Given the description of an element on the screen output the (x, y) to click on. 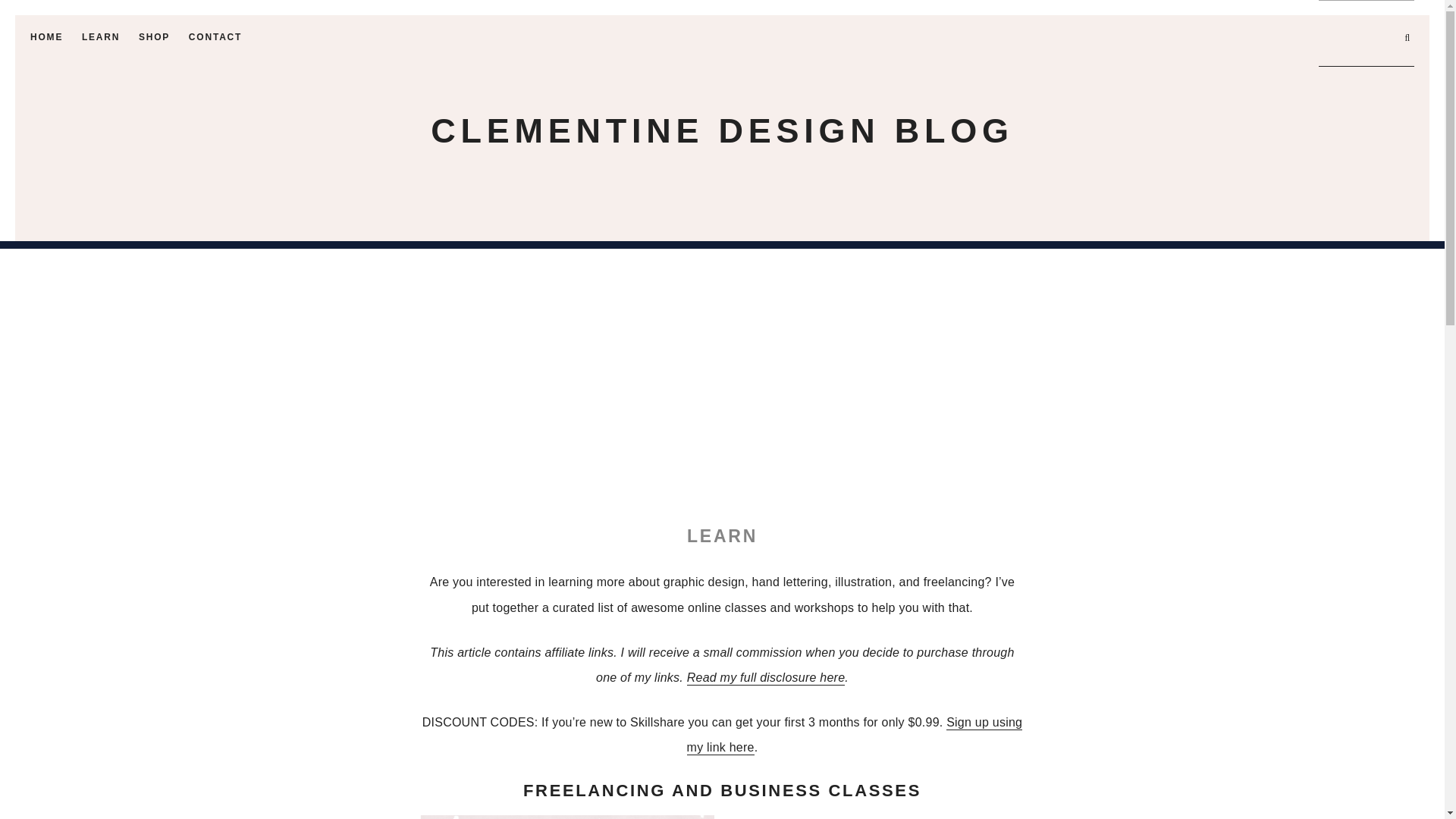
SHOP (154, 40)
HOME (46, 40)
Read my full disclosure here (766, 677)
Sign up using my link here (855, 735)
CONTACT (214, 40)
CLEMENTINE DESIGN BLOG (721, 130)
LEARN (101, 40)
